Given the description of an element on the screen output the (x, y) to click on. 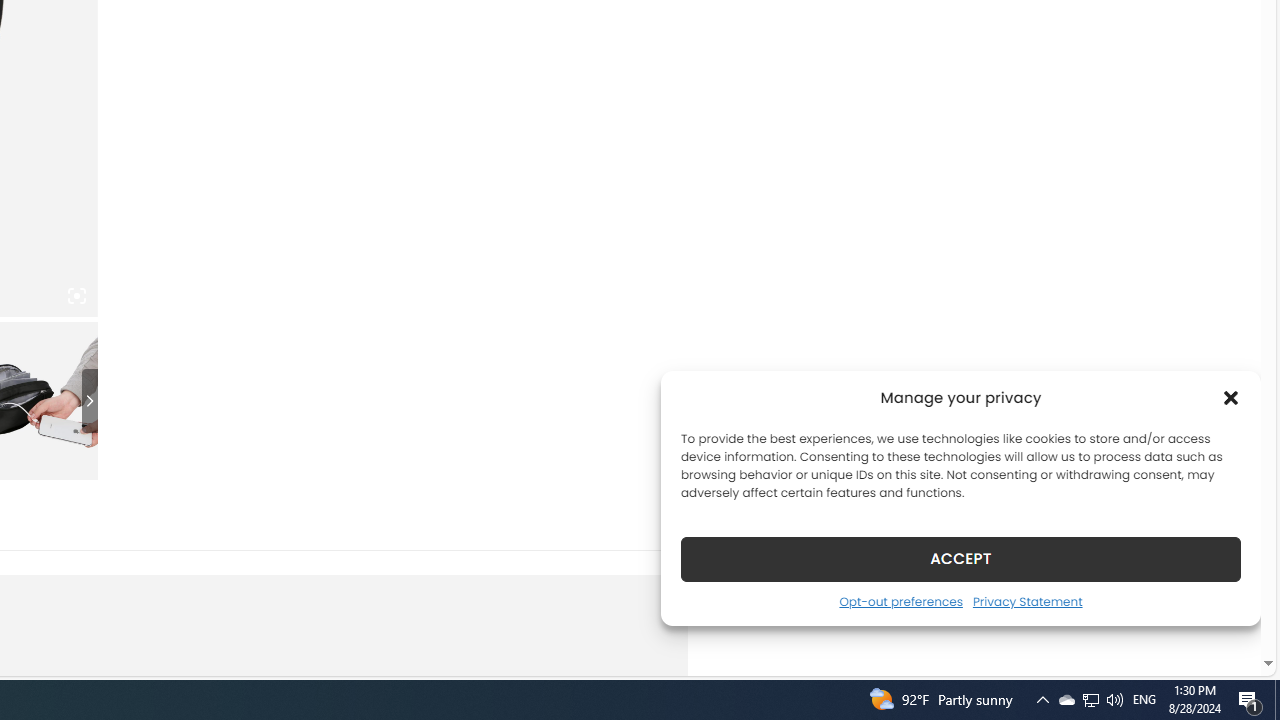
Class: iconic-woothumbs-fullscreen (75, 296)
Opt-out preferences (900, 601)
ACCEPT (960, 558)
Class: cmplz-close (1231, 397)
Privacy Statement (1026, 601)
